Given the description of an element on the screen output the (x, y) to click on. 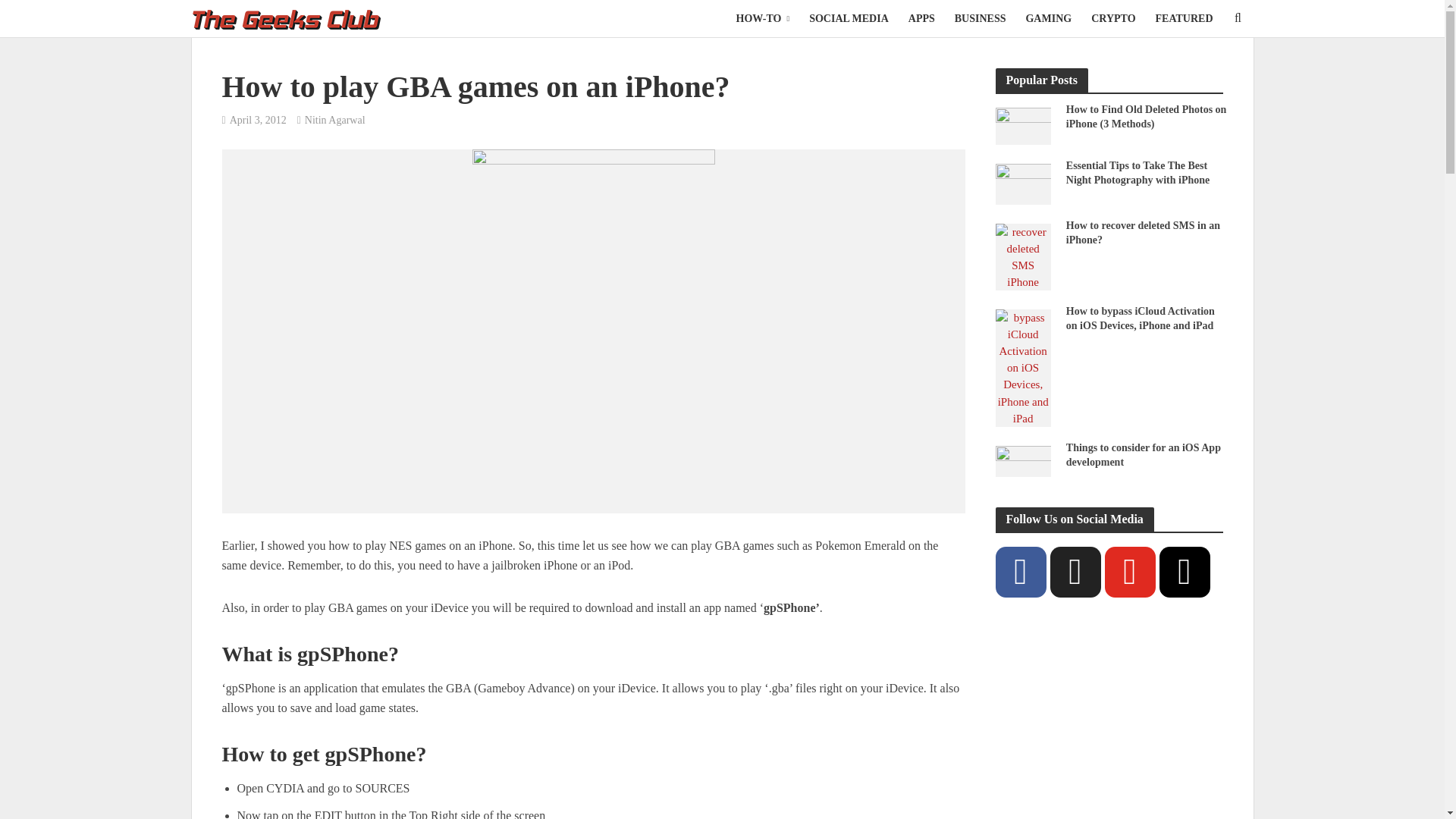
YouTube (1128, 572)
Facebook (1019, 572)
CRYPTO (1112, 18)
SOCIAL MEDIA (848, 18)
HOW-TO (762, 18)
APPS (921, 18)
Things to consider for an iOS App development (1021, 460)
FEATURED (1184, 18)
